Given the description of an element on the screen output the (x, y) to click on. 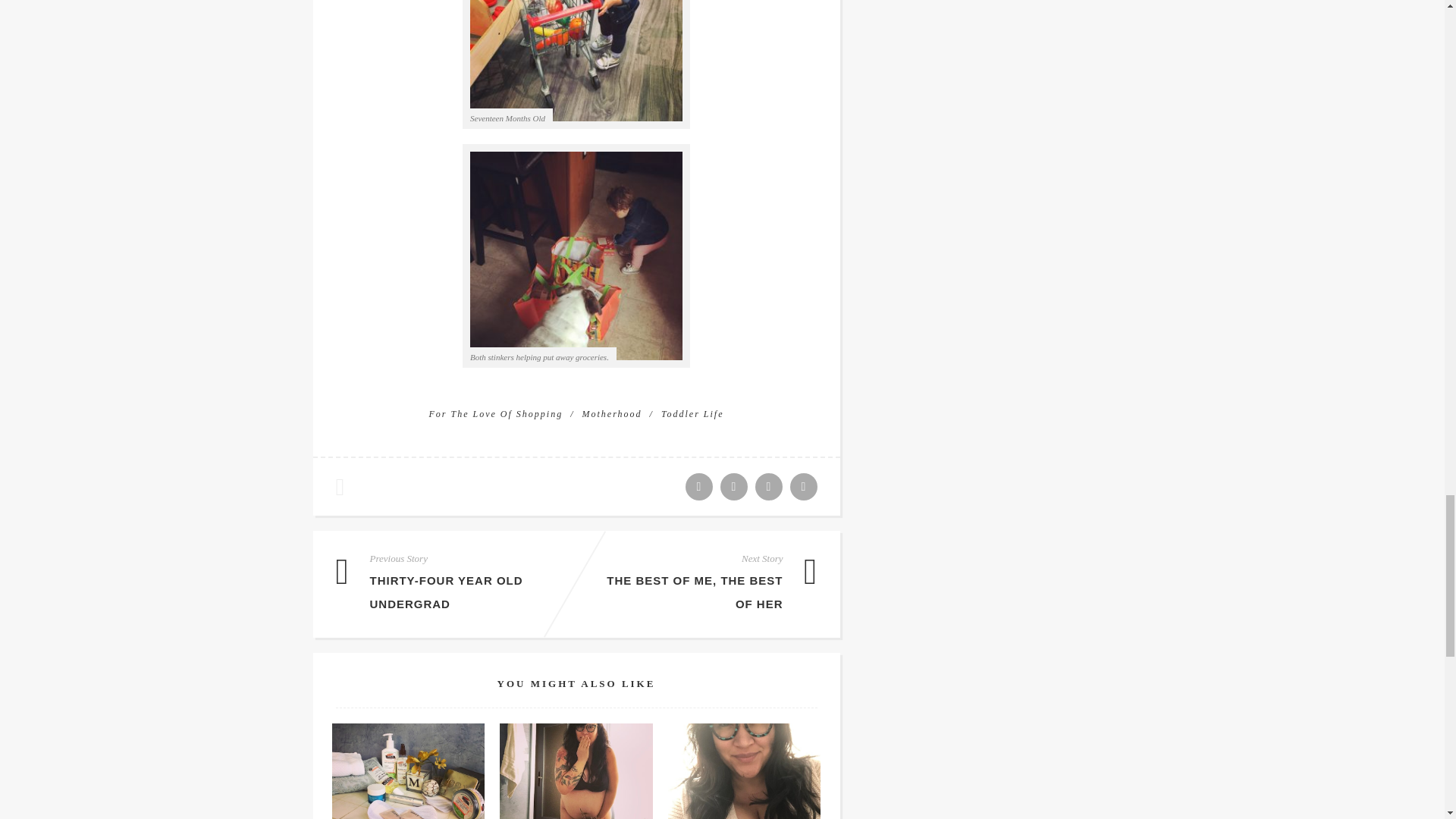
The Best of Me, The Best of Her (695, 592)
Toddler life (692, 413)
For the love of shopping (500, 413)
motherhood (616, 413)
Motherhood (616, 413)
For The Love Of Shopping (500, 413)
Thirty-Four Year Old Undergrad (445, 592)
Toddler Life (692, 413)
